Given the description of an element on the screen output the (x, y) to click on. 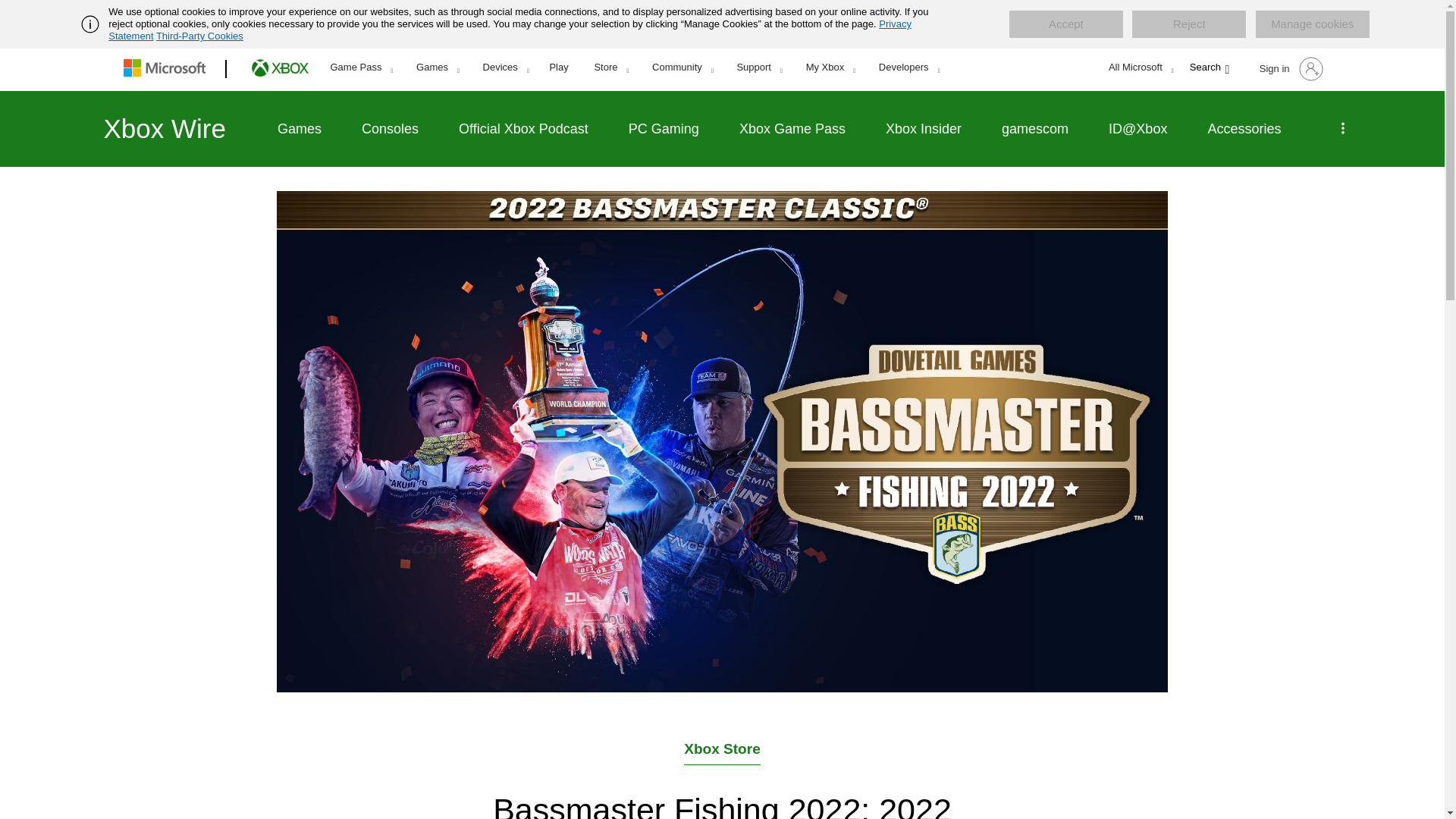
Microsoft (167, 69)
Accept (1065, 23)
Reject (1189, 23)
Privacy Statement (509, 29)
Games (437, 67)
Third-Party Cookies (199, 35)
Manage cookies (1312, 23)
Game Pass (360, 67)
Devices (505, 67)
